Given the description of an element on the screen output the (x, y) to click on. 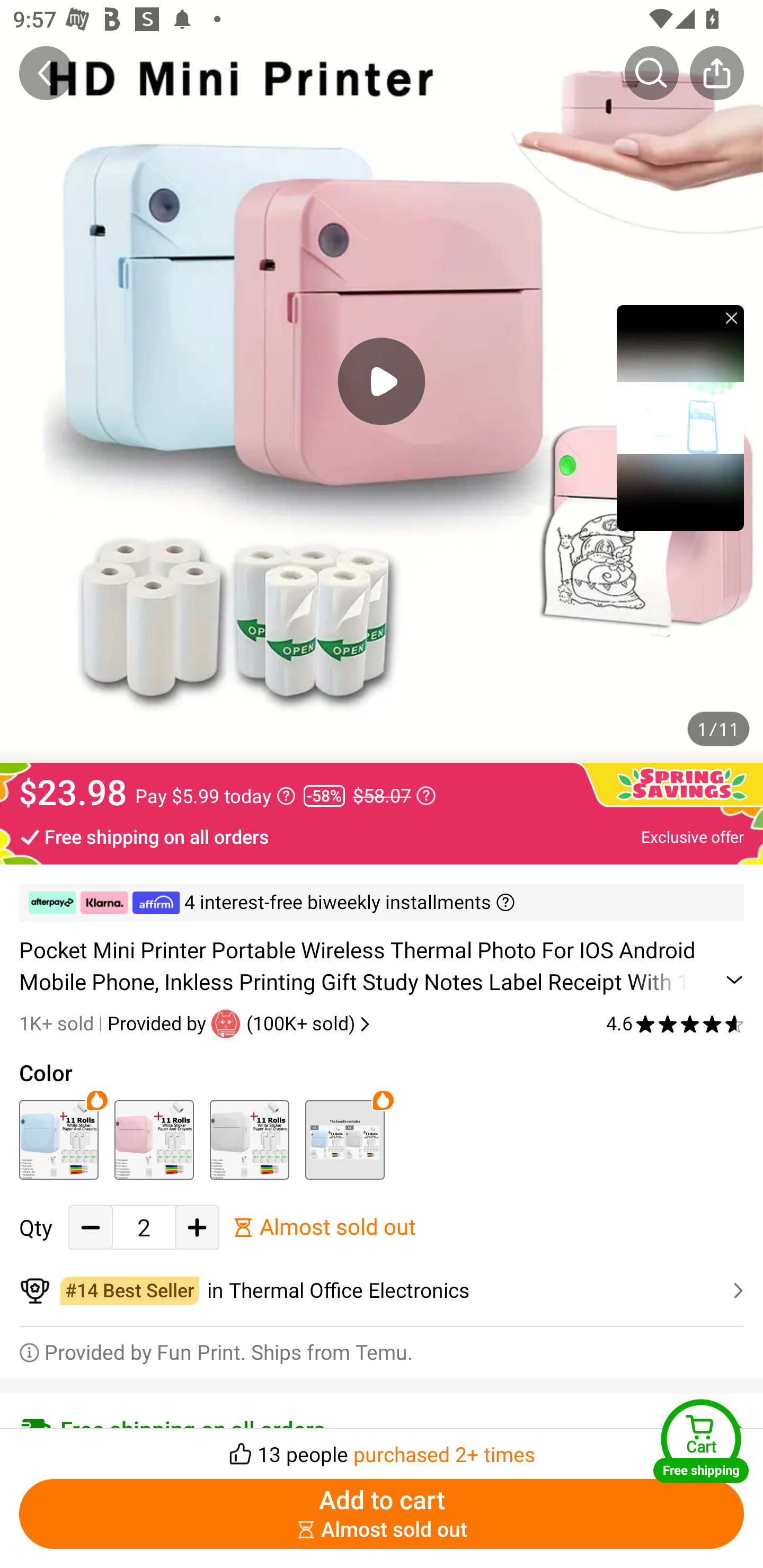
Back (46, 72)
Share (716, 72)
tronplayer_view (680, 417)
Pay $5.99 today   (215, 795)
Free shipping on all orders Exclusive offer (381, 836)
￼ ￼ ￼ 4 interest-free biweekly installments ￼ (381, 902)
4.6 (674, 1023)
Blue   (58, 1139)
Light Pink (153, 1139)
White (249, 1139)
Blue+White   (344, 1139)
Decrease Quantity Button (90, 1227)
2 (143, 1227)
Add Quantity button (196, 1227)
￼￼in Thermal Office Electronics (381, 1290)
Cart Free shipping Cart (701, 1440)
￼￼13 people purchased 2+ times (381, 1448)
Add to cart ￼￼Almost sold out (381, 1513)
